Given the description of an element on the screen output the (x, y) to click on. 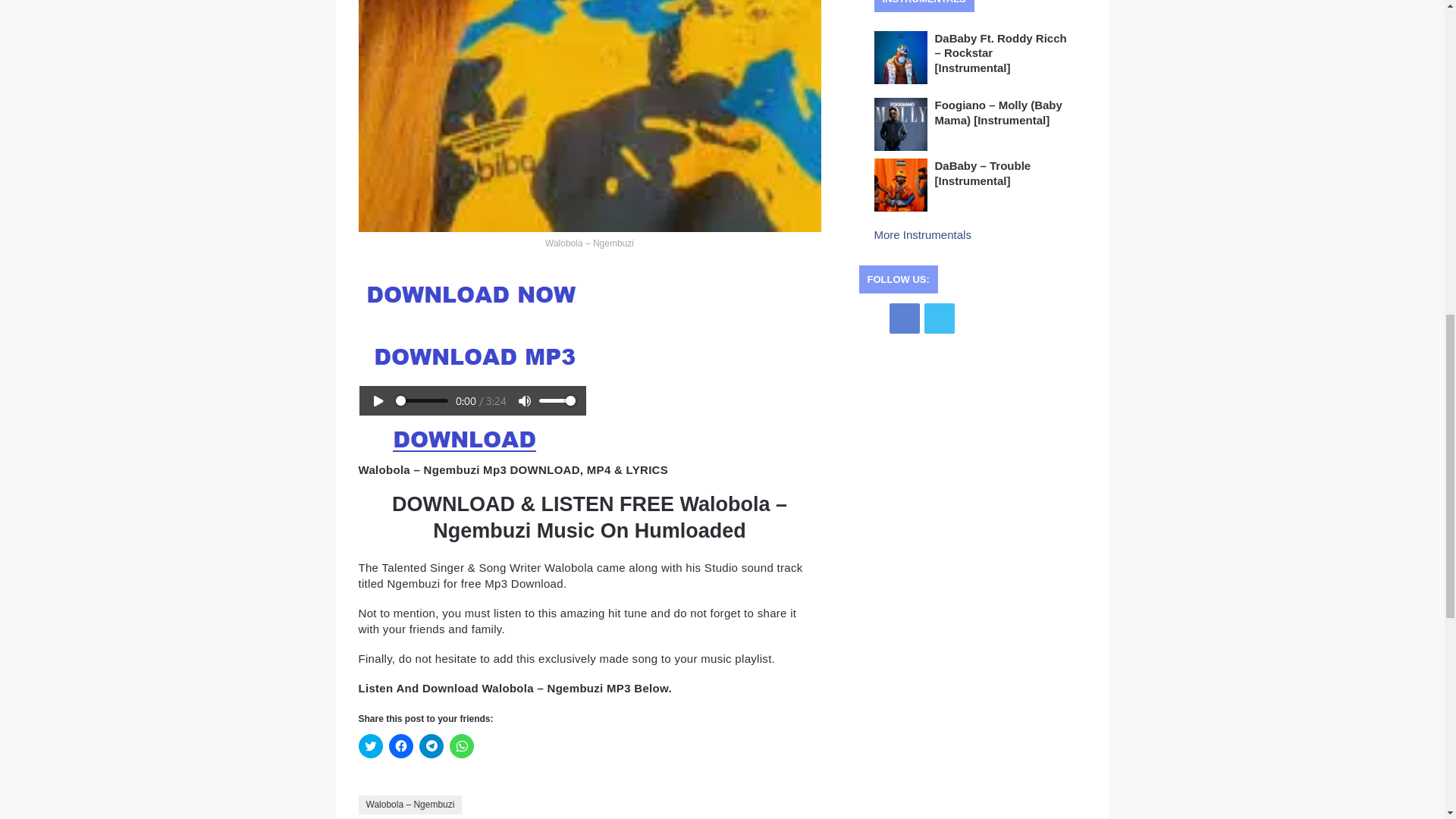
Click to share on Twitter (369, 745)
Click to share on Telegram (430, 745)
Click to share on Facebook (400, 745)
Click to share on WhatsApp (460, 745)
